Given the description of an element on the screen output the (x, y) to click on. 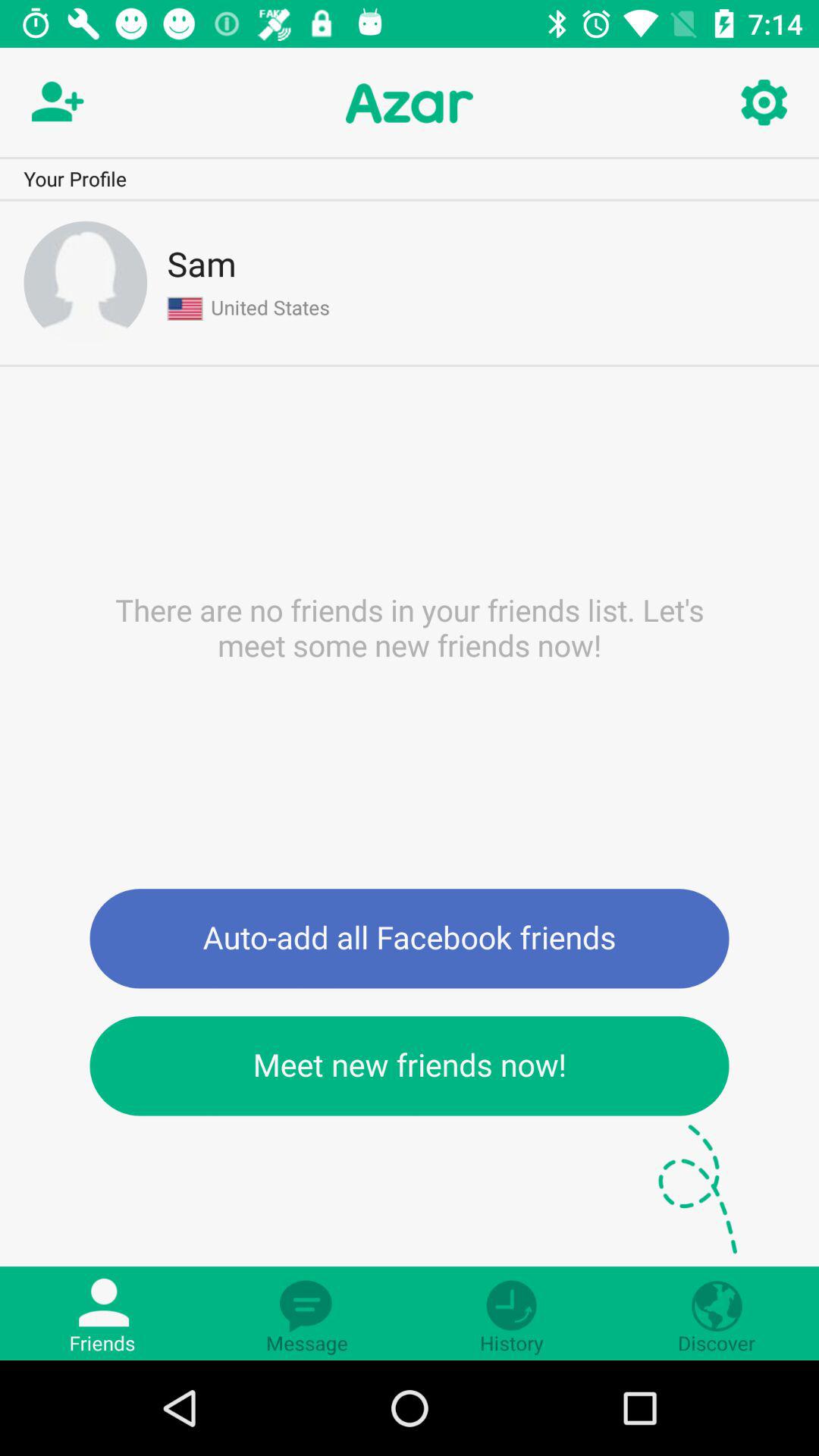
add friend (55, 103)
